Given the description of an element on the screen output the (x, y) to click on. 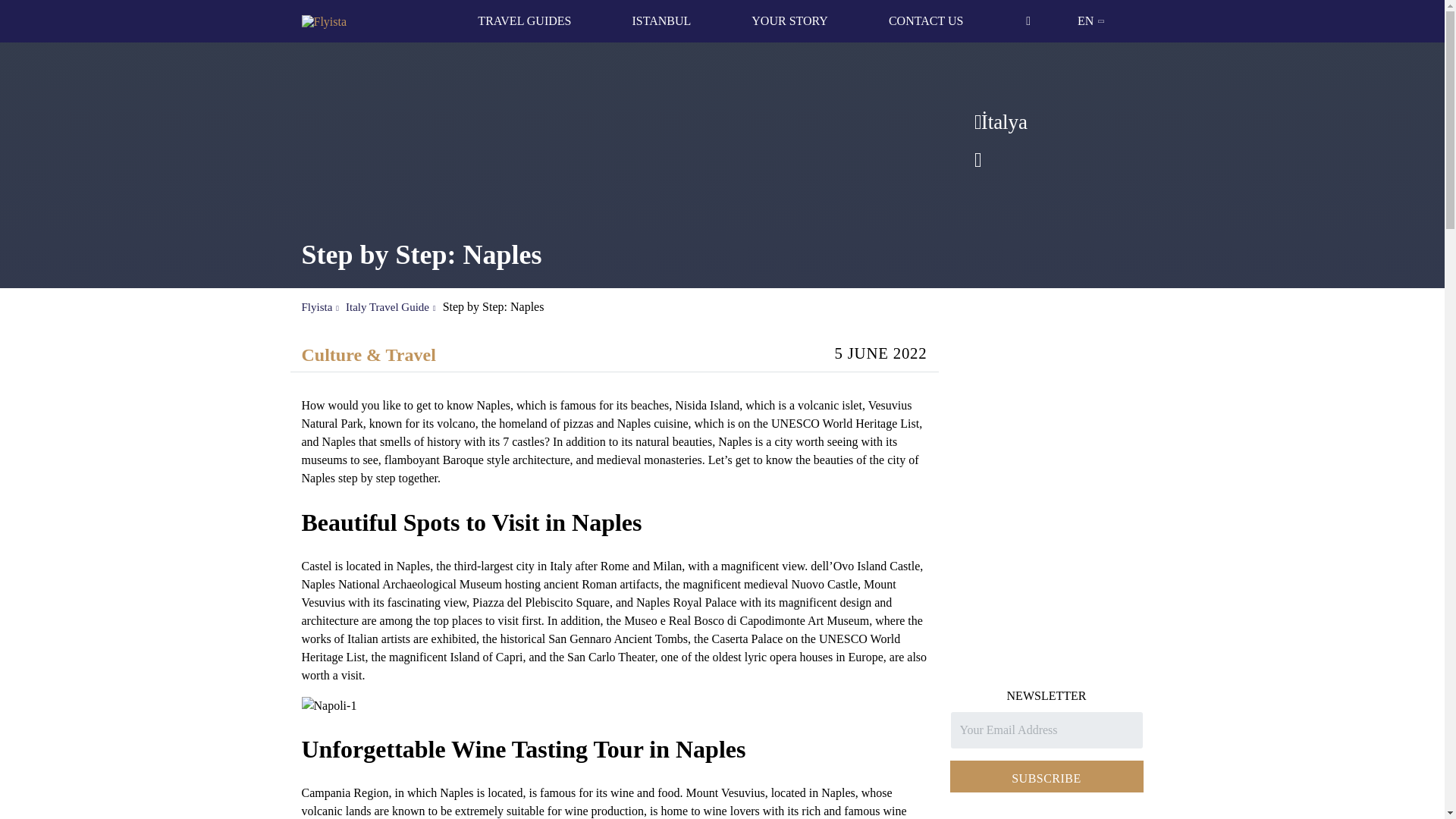
TRAVEL GUIDES (523, 20)
SUBSCRIBE (1045, 776)
